Given the description of an element on the screen output the (x, y) to click on. 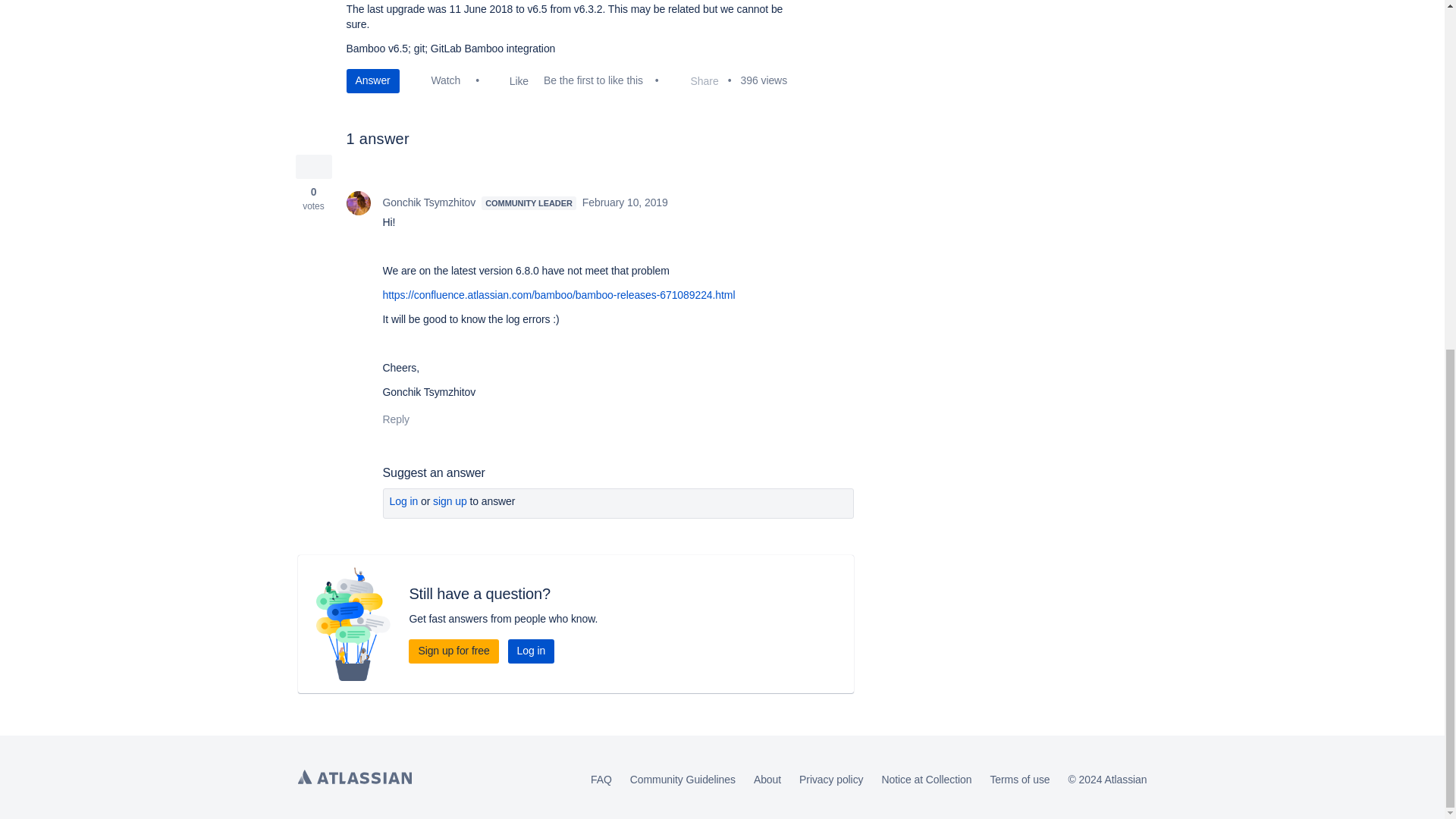
Gonchik Tsymzhitov (357, 202)
